Given the description of an element on the screen output the (x, y) to click on. 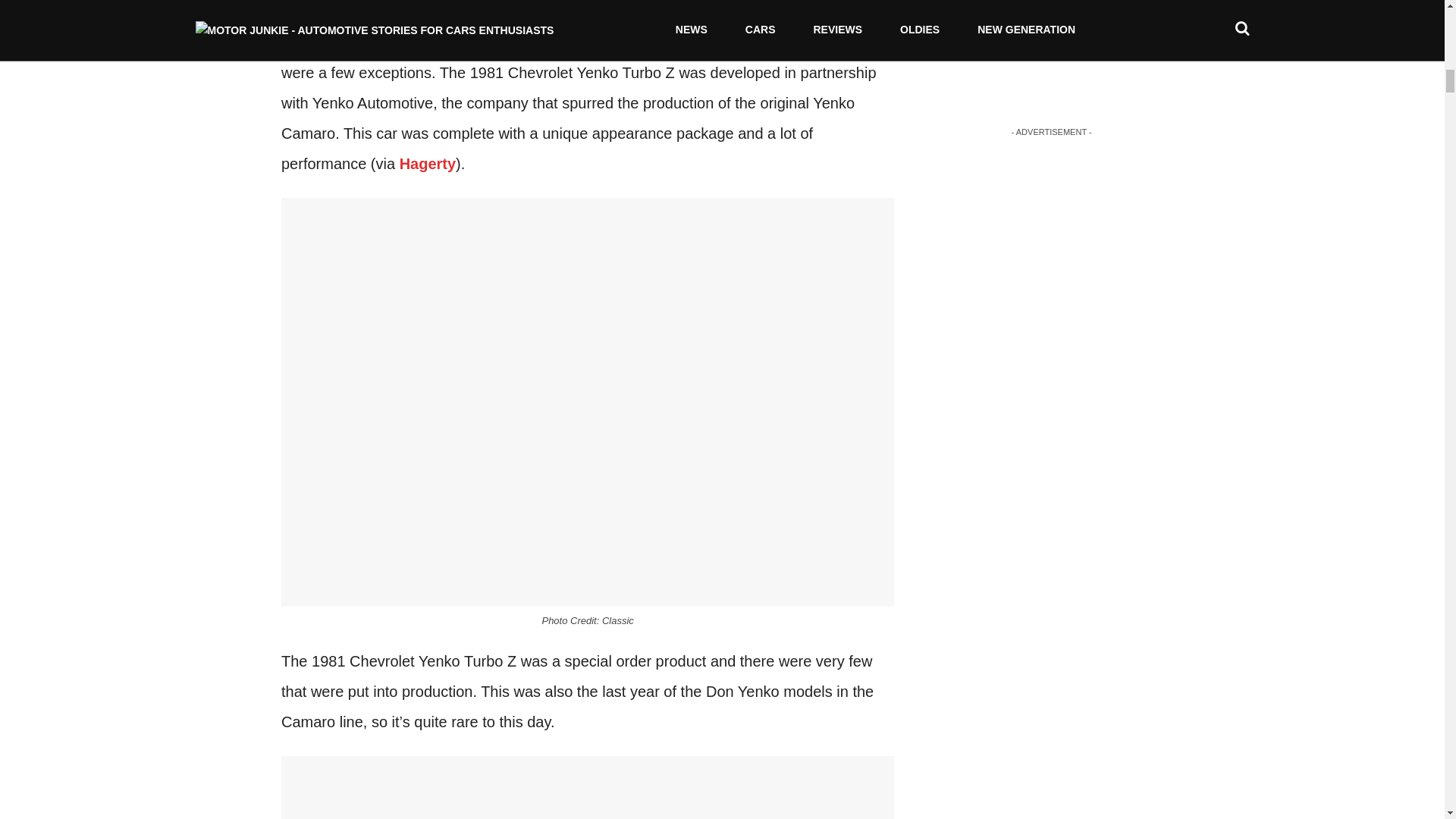
Hagerty (426, 163)
